Given the description of an element on the screen output the (x, y) to click on. 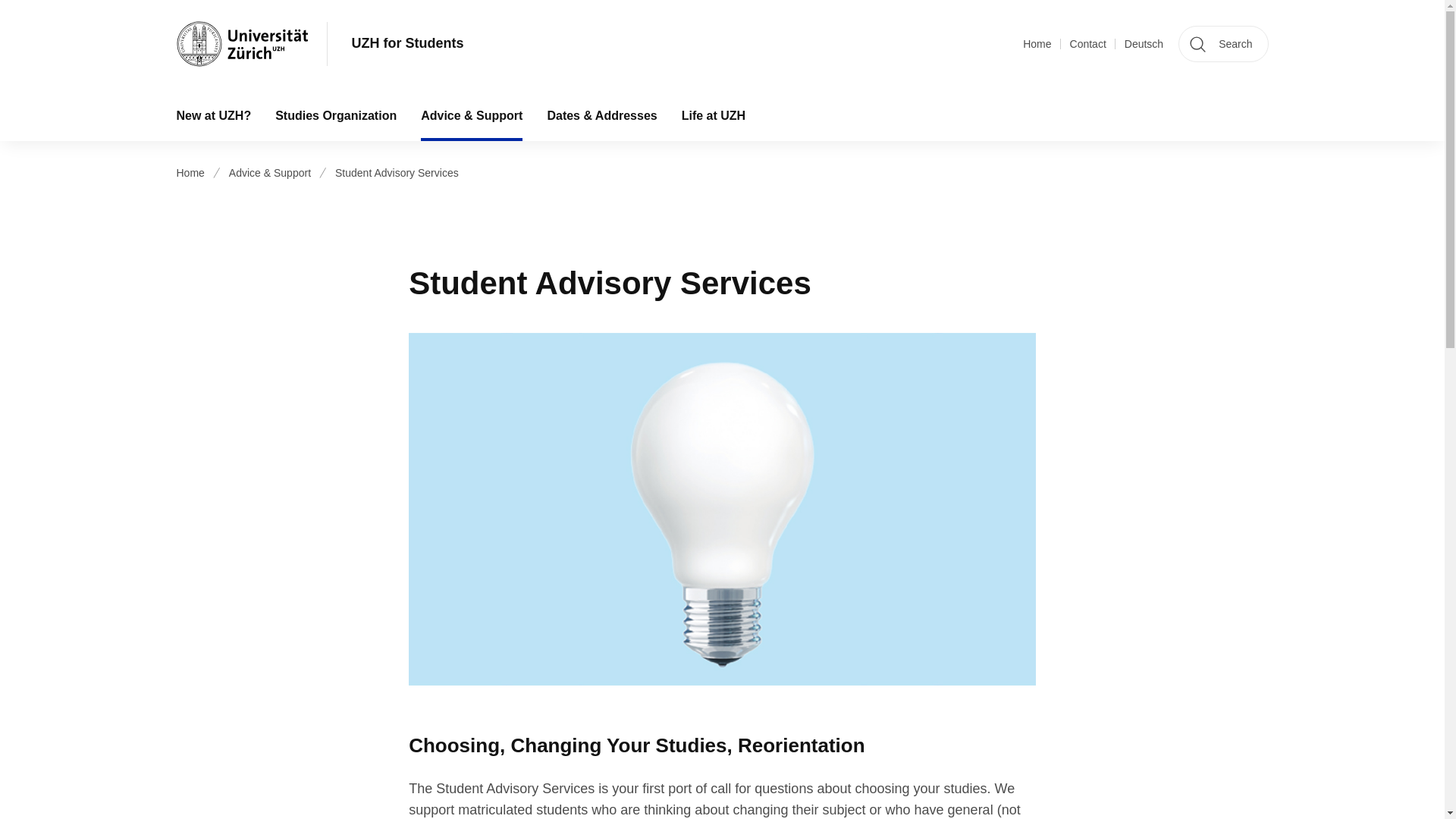
Deutsch (1143, 44)
Studies Organization (336, 115)
Search (1222, 43)
New at UZH? (213, 115)
Contact (1088, 44)
UZH for Students (408, 43)
Home (1037, 44)
